Given the description of an element on the screen output the (x, y) to click on. 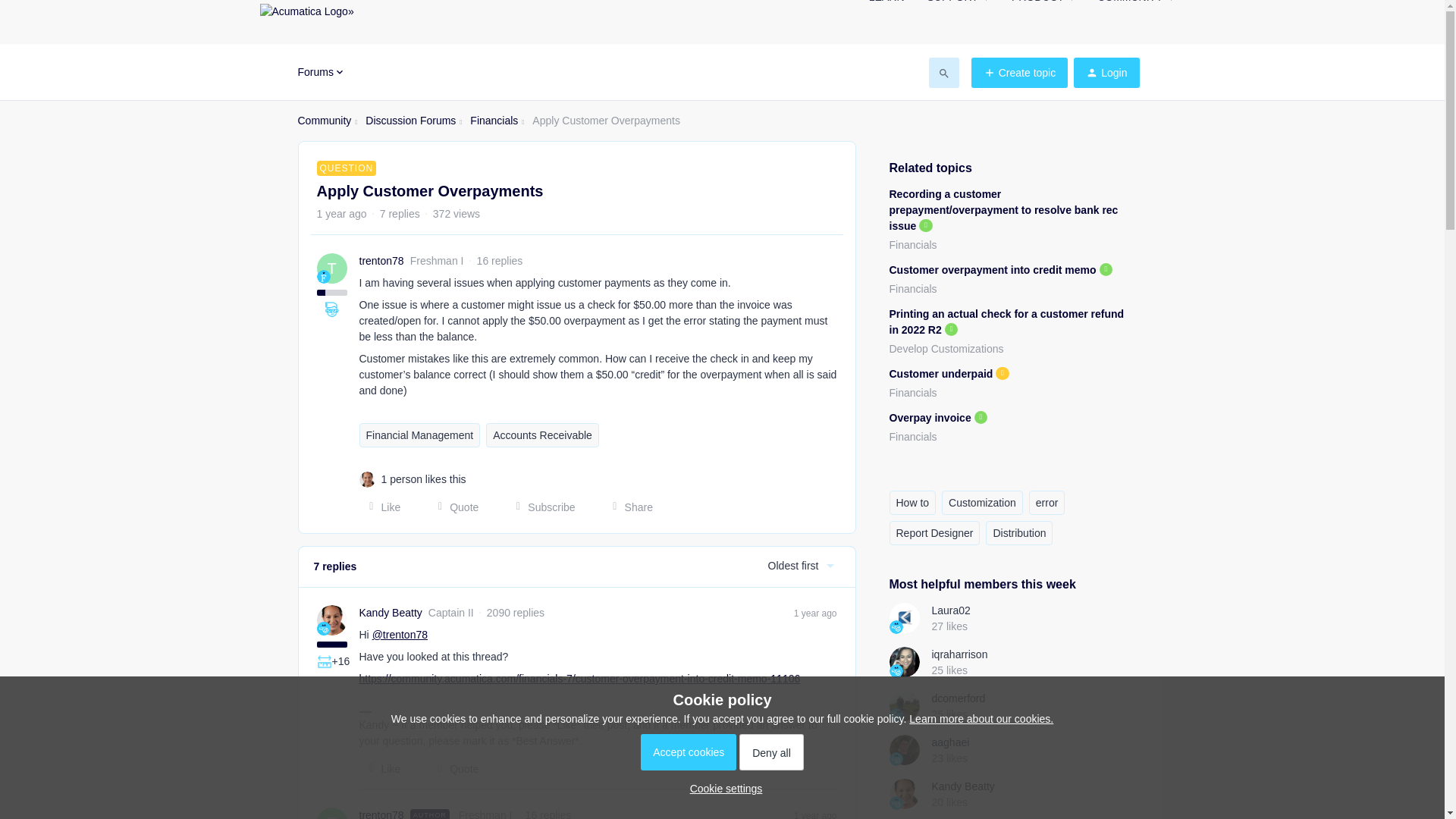
LEARN (886, 6)
Forums (321, 71)
COMMUNITY (1135, 6)
SUPPORT (957, 6)
PRODUCT (1042, 6)
